Given the description of an element on the screen output the (x, y) to click on. 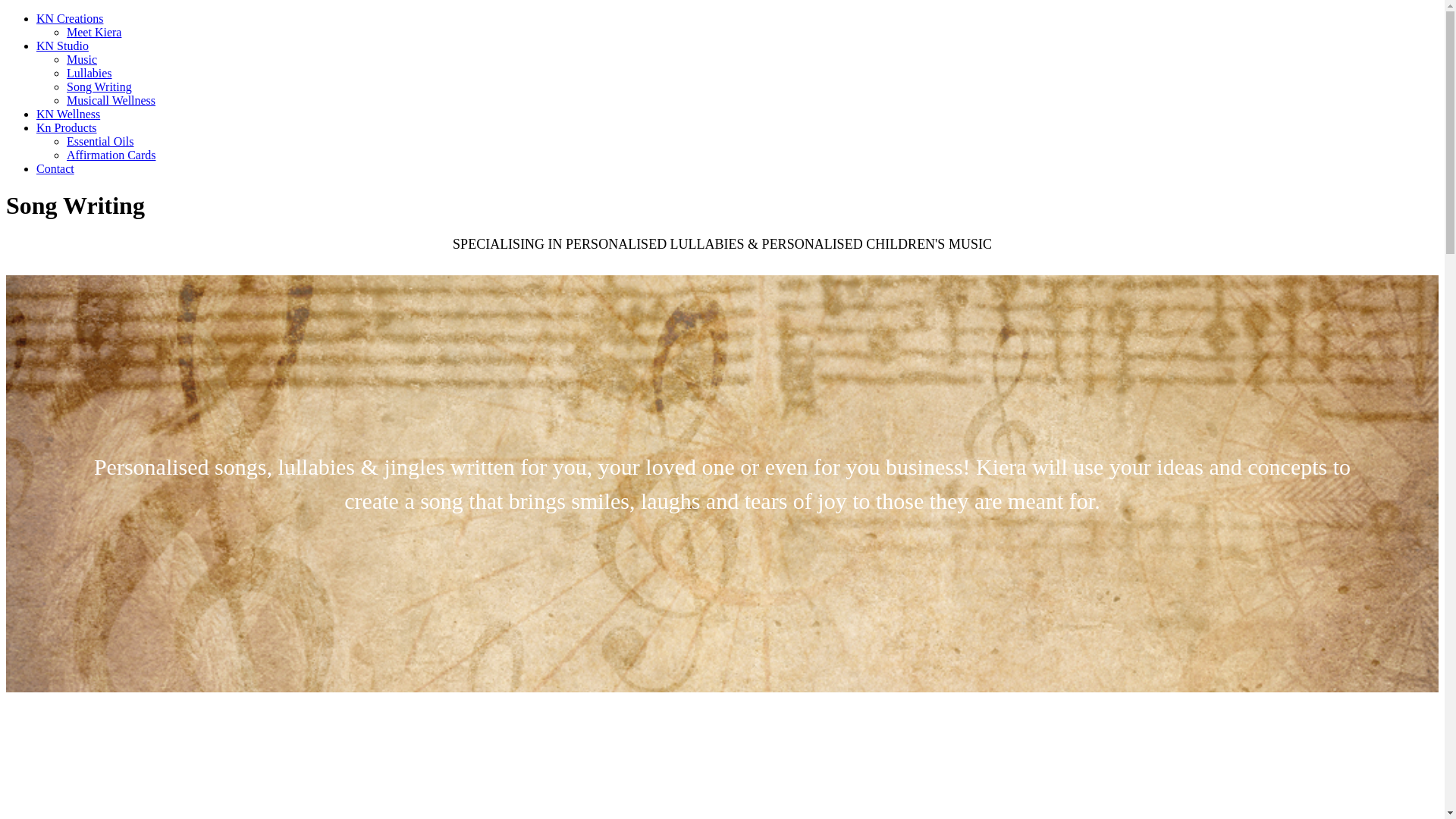
Contact Element type: text (55, 168)
Kn Products Element type: text (66, 127)
Music Element type: text (81, 59)
Song Writing Element type: text (98, 86)
KN Studio Element type: text (62, 45)
KN Wellness Element type: text (68, 113)
Essential Oils Element type: text (99, 140)
Meet Kiera Element type: text (93, 31)
KN Creations Element type: text (69, 18)
Affirmation Cards Element type: text (110, 154)
Lullabies Element type: text (89, 72)
Musicall Wellness Element type: text (110, 100)
